Given the description of an element on the screen output the (x, y) to click on. 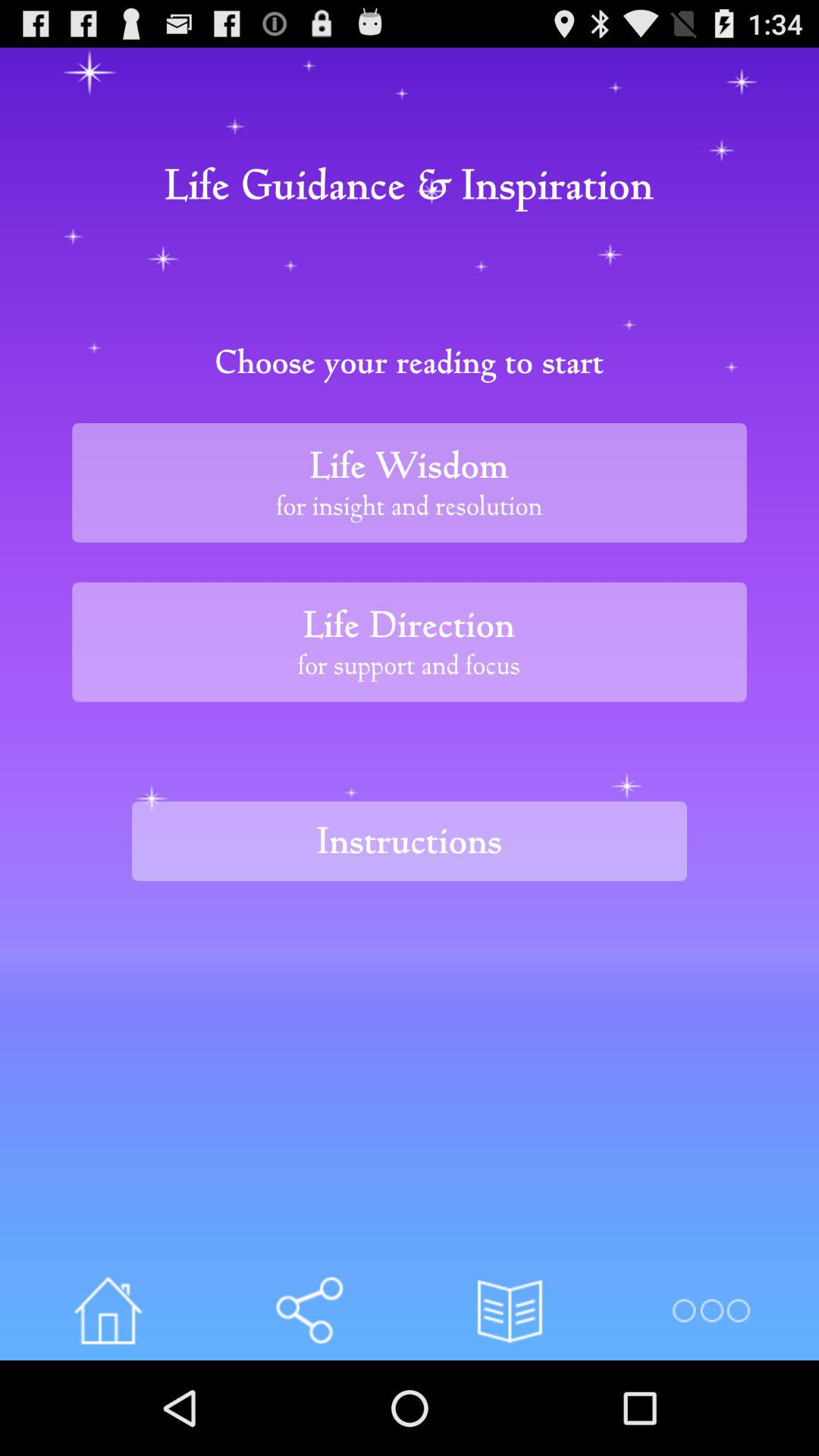
turn off the instructions icon (409, 840)
